Given the description of an element on the screen output the (x, y) to click on. 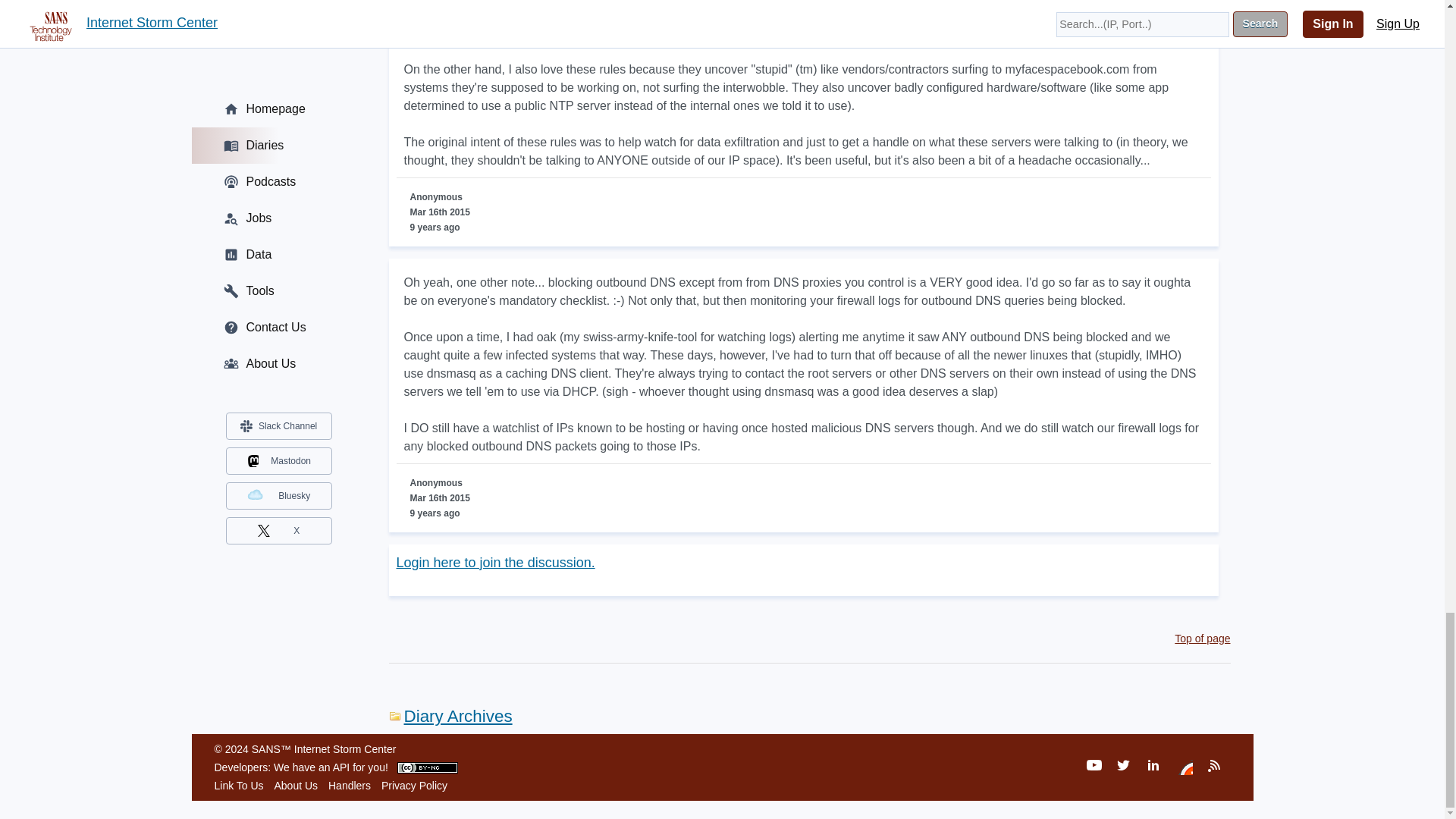
Diary Archives (450, 715)
Top of page (1202, 638)
Login here to join the discussion. (495, 562)
